Given the description of an element on the screen output the (x, y) to click on. 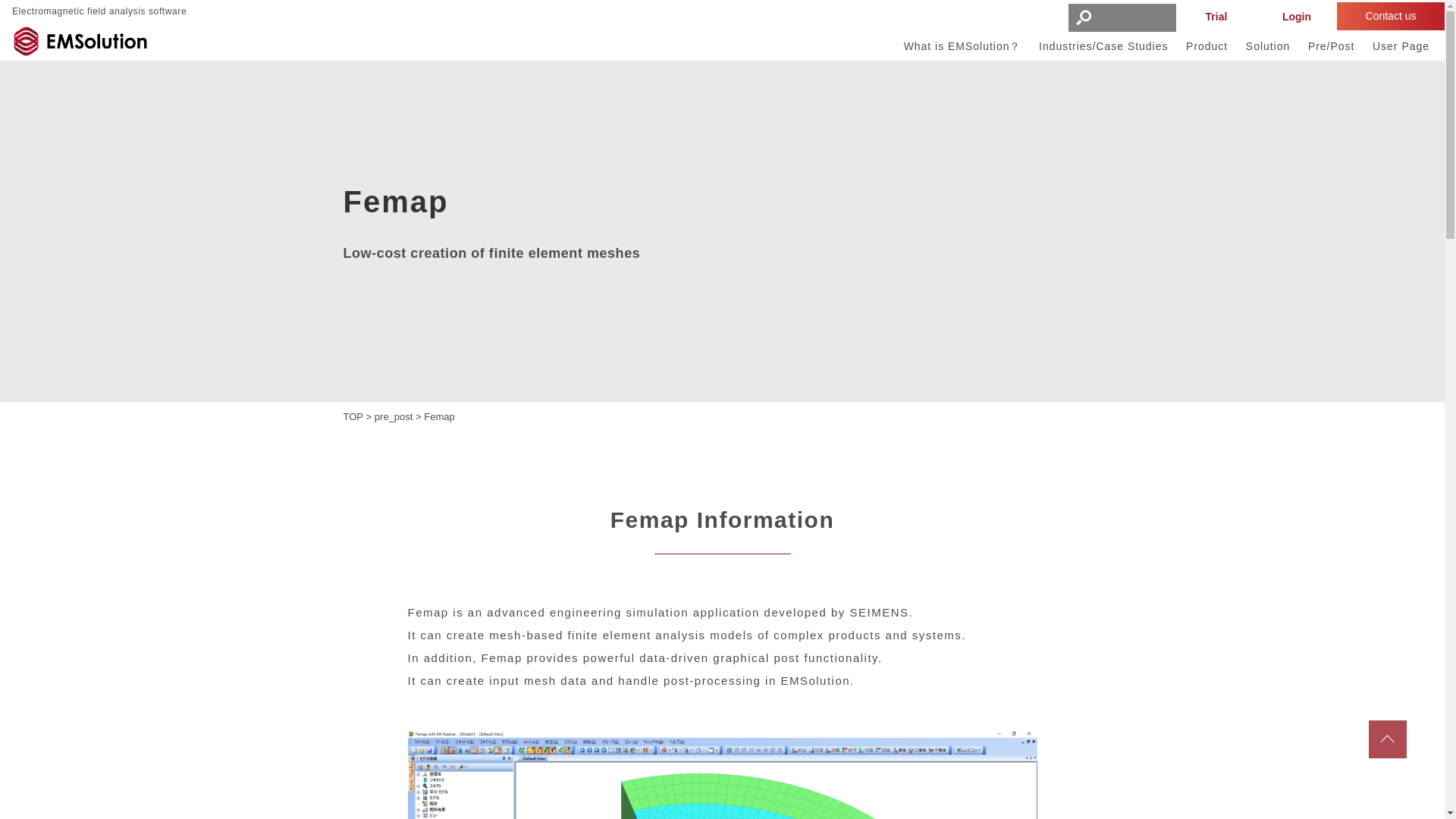
Solution (1268, 50)
Product (1206, 50)
Trial (1216, 17)
Login (1296, 17)
